Given the description of an element on the screen output the (x, y) to click on. 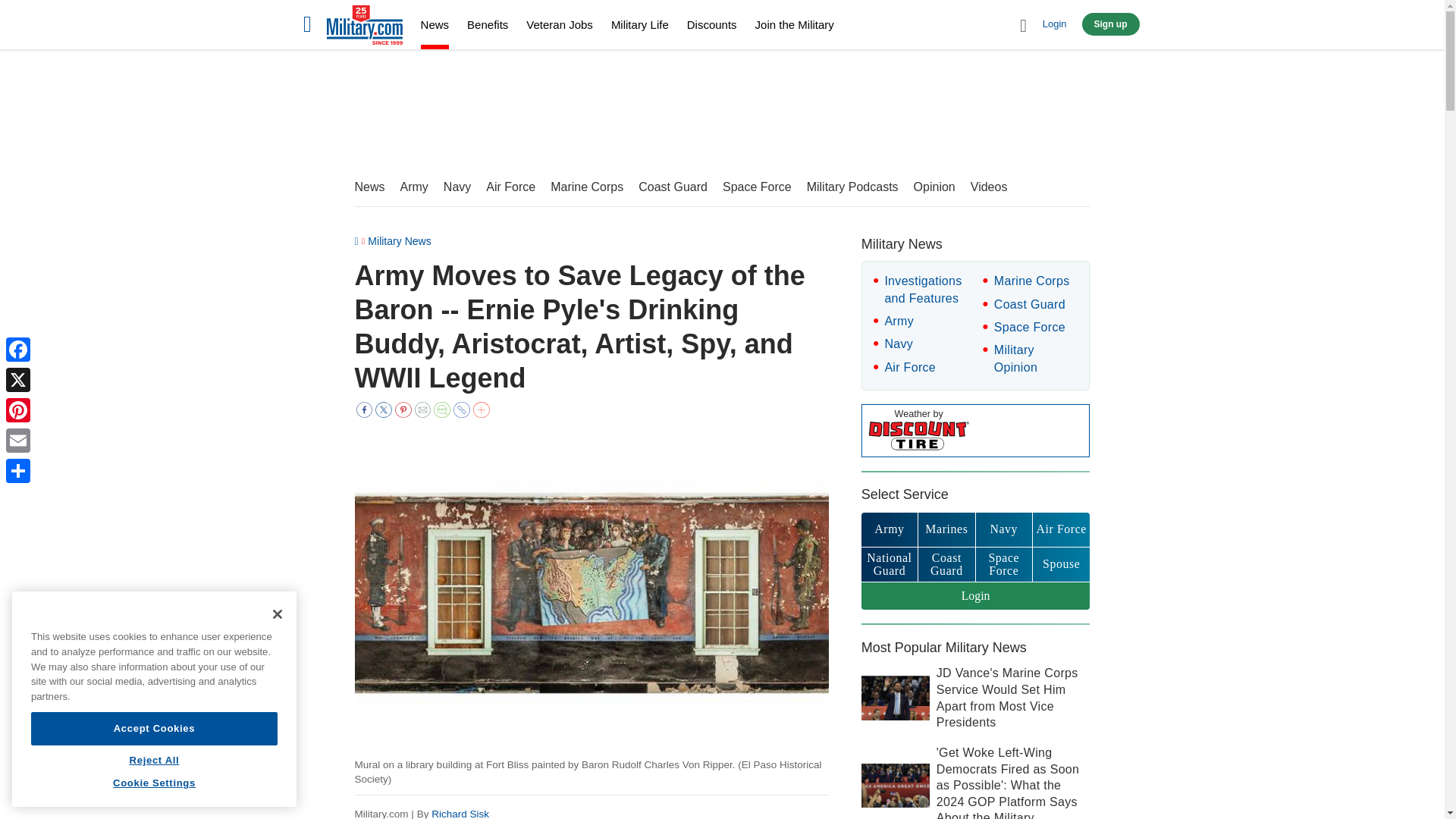
Trinity Audio Player (50, 768)
Marines login link (946, 529)
National Guard login link (889, 564)
Home (364, 27)
Army login link (889, 529)
Navy login link (1003, 529)
Spouse login link (1060, 564)
Veteran Jobs (558, 24)
Login link (975, 596)
Benefits (487, 24)
Coast Guard login link (946, 564)
Air Force login link (1060, 529)
Military Life (639, 24)
Space Force login link (1003, 564)
